Given the description of an element on the screen output the (x, y) to click on. 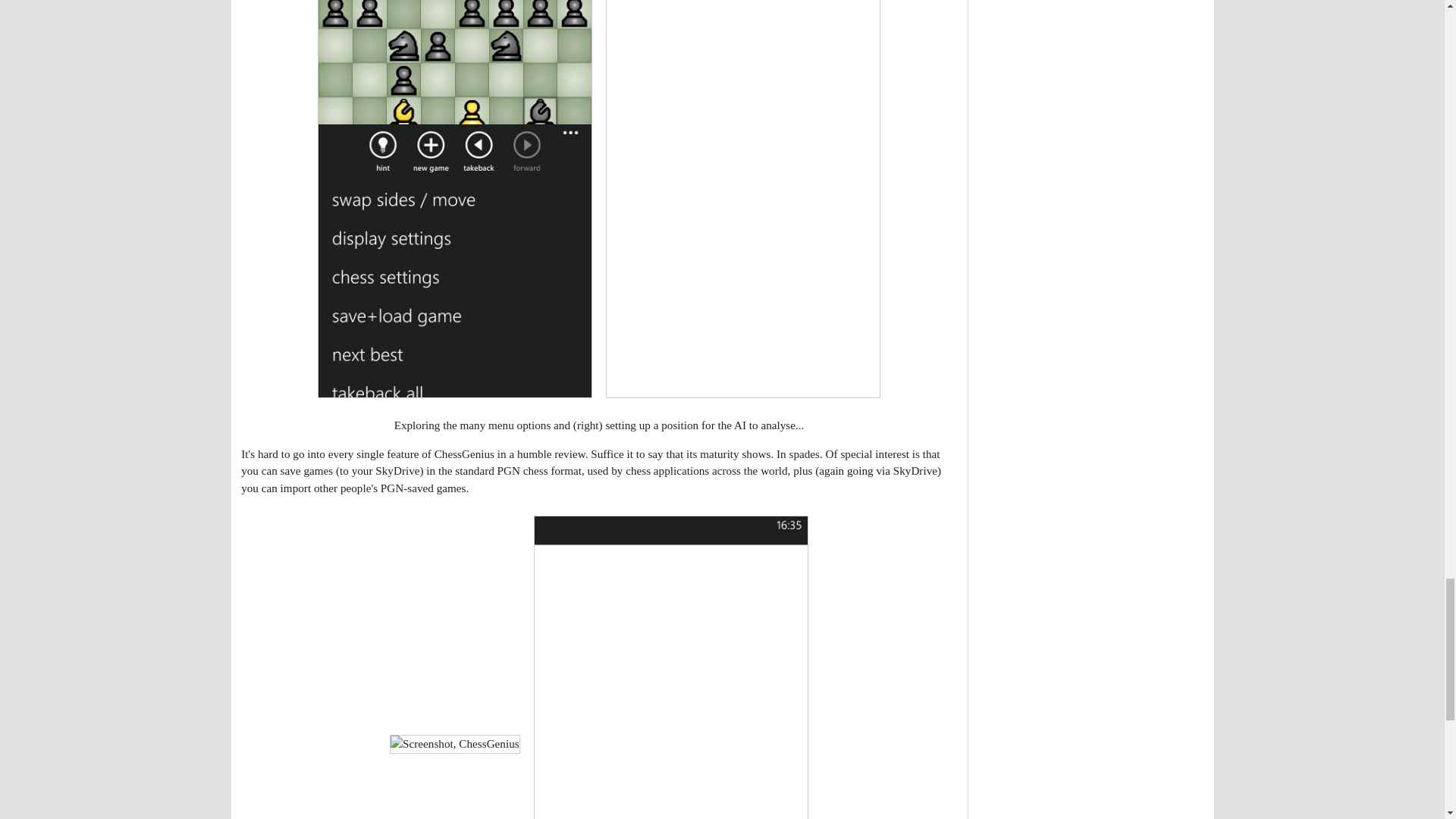
Screenshot, ChessGenius (454, 743)
Screenshot, ChessGenius (671, 667)
